Given the description of an element on the screen output the (x, y) to click on. 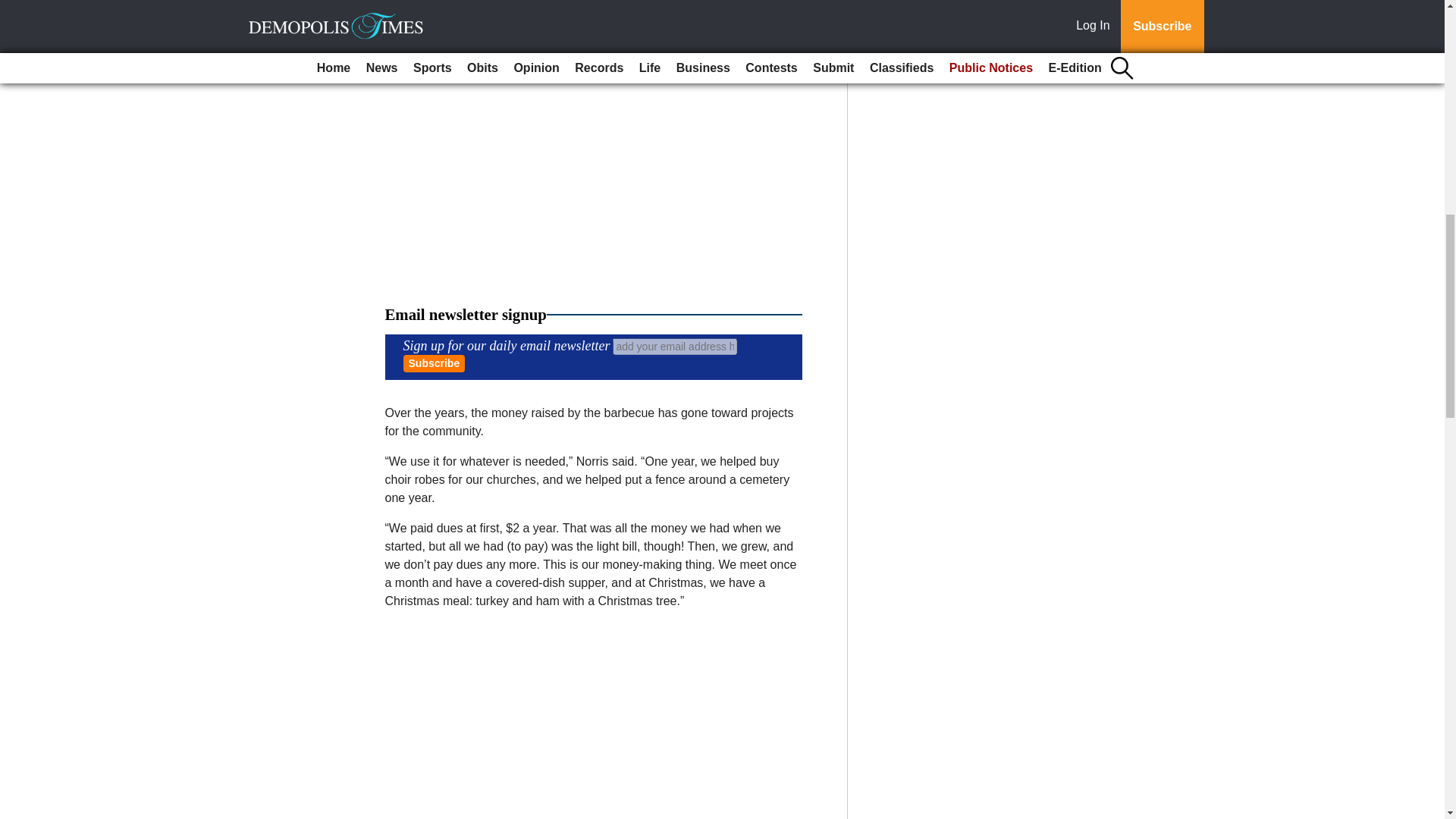
Subscribe (434, 363)
Subscribe (434, 363)
